Given the description of an element on the screen output the (x, y) to click on. 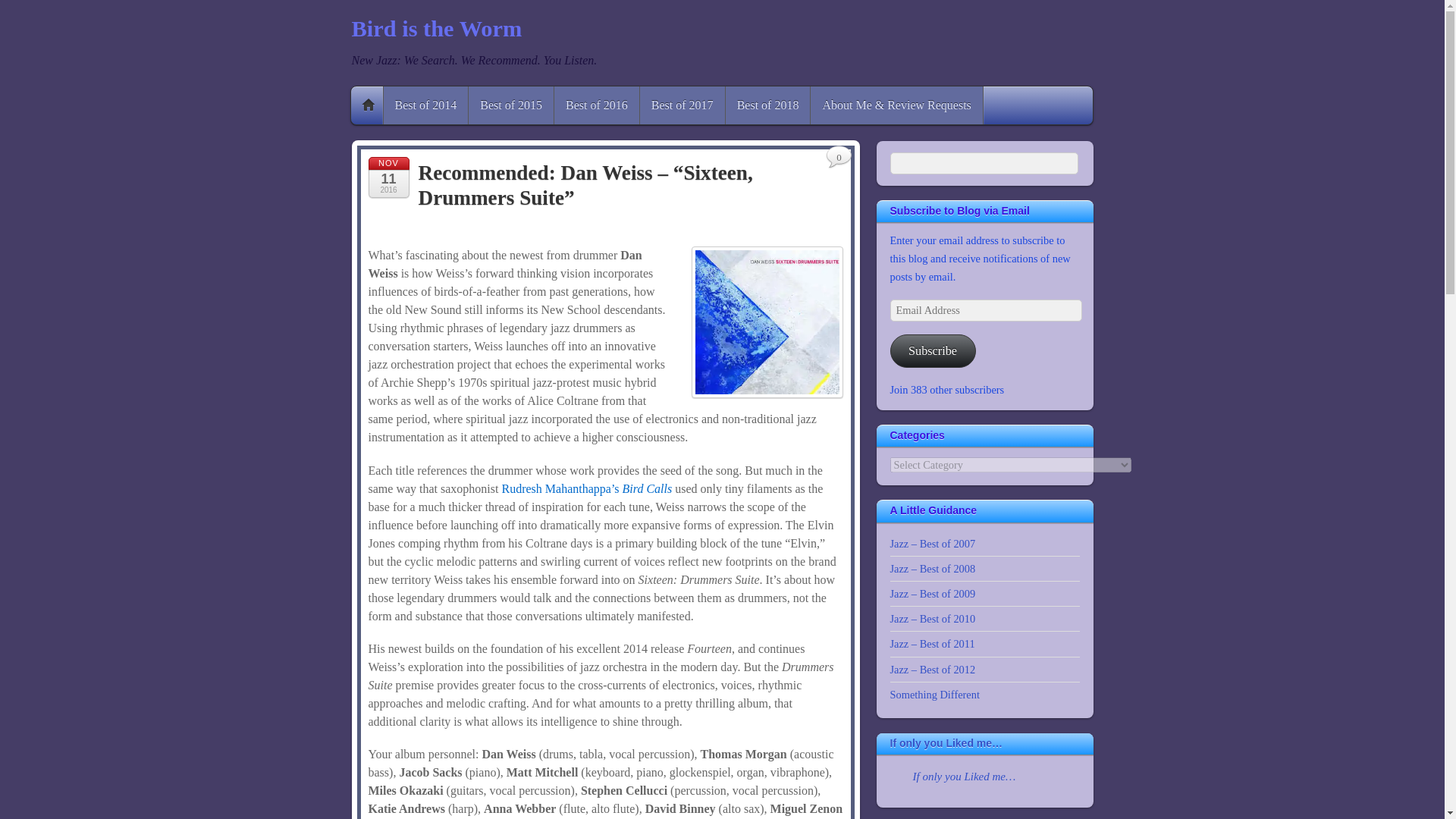
Subscribe (932, 350)
Best of 2017 (682, 105)
Best of 2014 (426, 105)
Bird is the Worm (437, 28)
Best of 2016 (596, 105)
Home (367, 105)
Best of 2018 (767, 105)
Bird is the Worm (437, 28)
Best of 2015 (510, 105)
0 (838, 158)
